Given the description of an element on the screen output the (x, y) to click on. 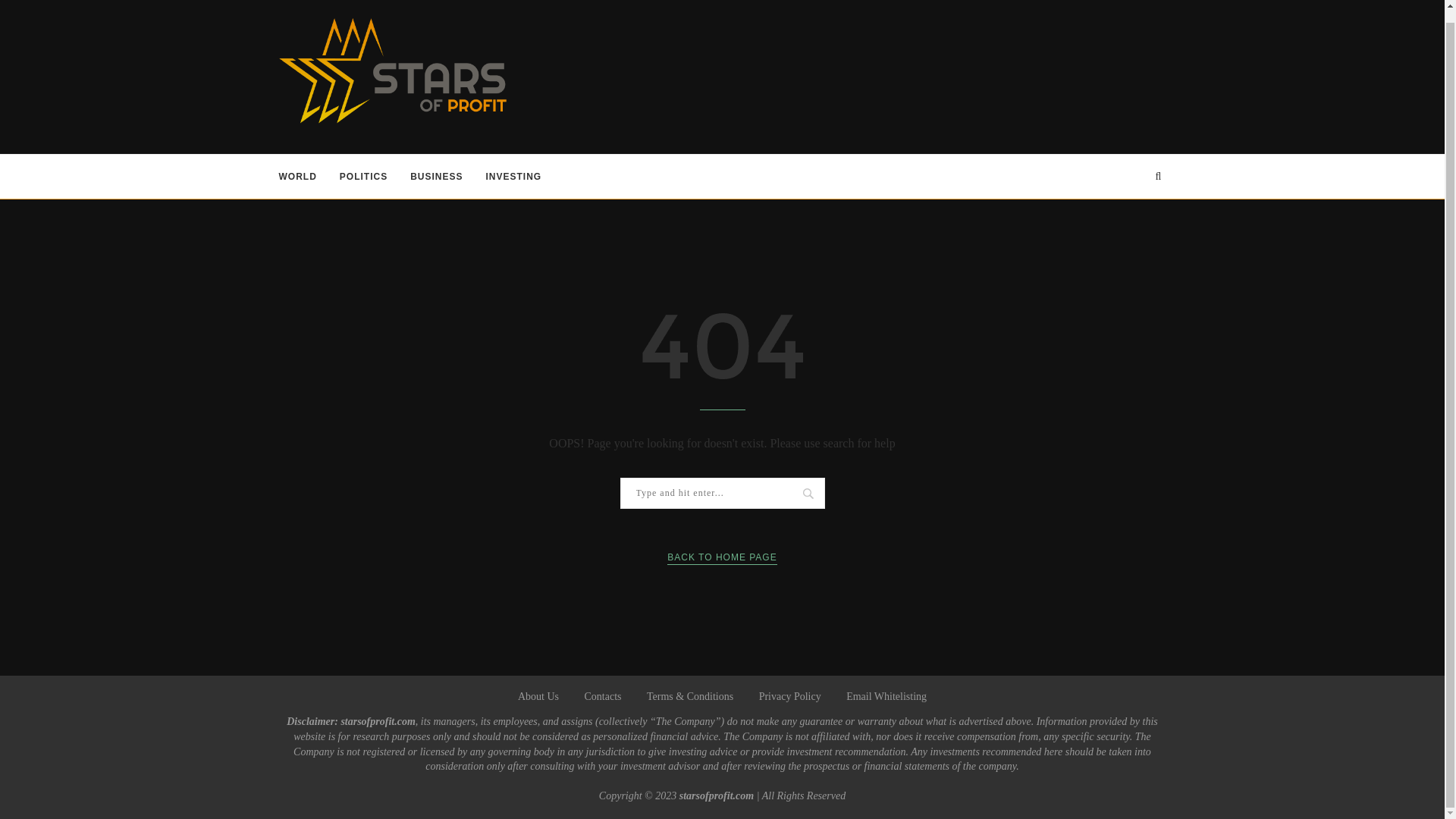
INVESTING (513, 176)
POLITICS (363, 176)
BACK TO HOME PAGE (721, 557)
Privacy Policy (789, 696)
About Us (538, 696)
Email Whitelisting (885, 696)
Contacts (602, 696)
BUSINESS (436, 176)
